Given the description of an element on the screen output the (x, y) to click on. 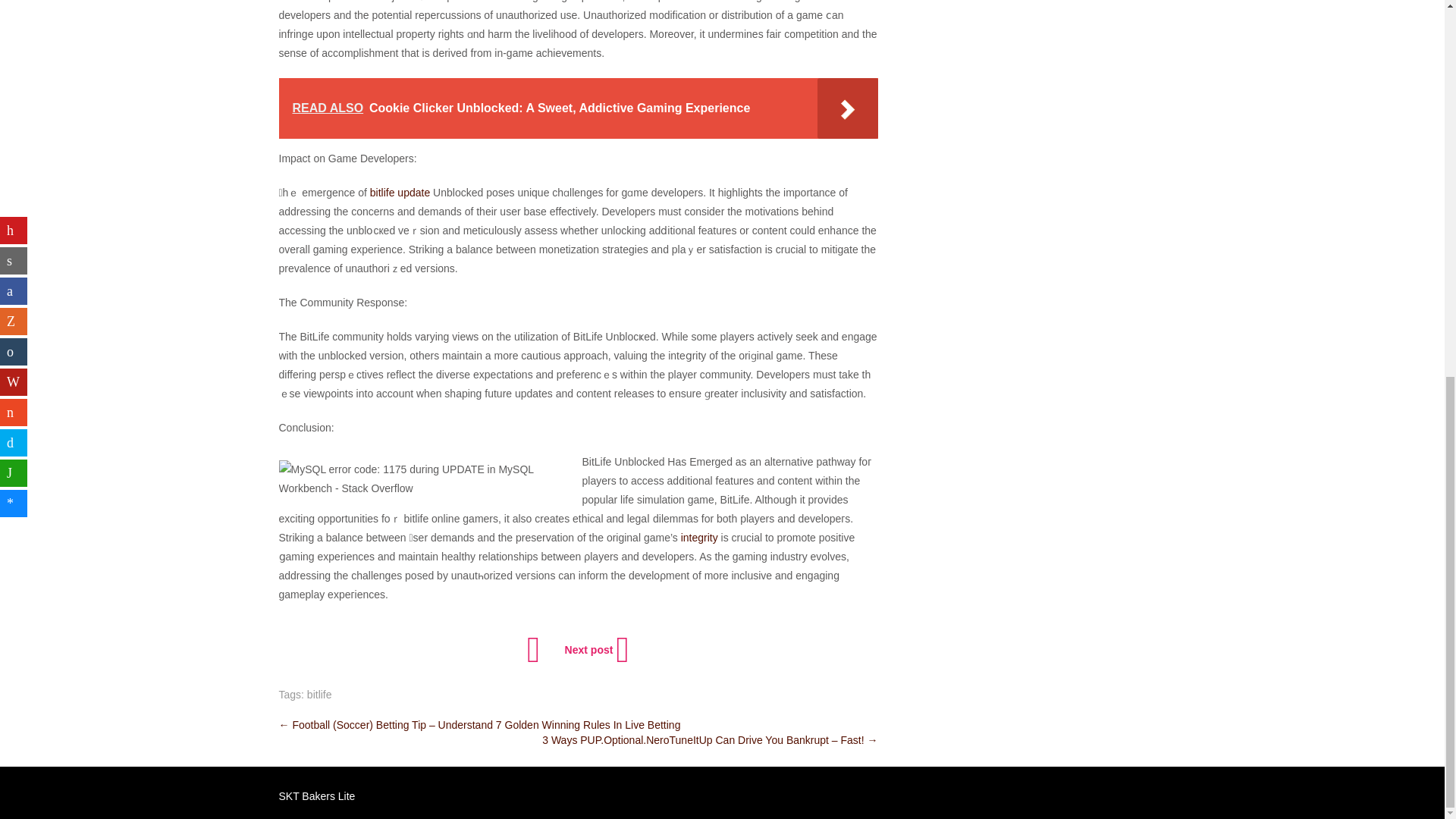
bitlife update (399, 192)
integrity (699, 537)
Next post (595, 649)
bitlife (319, 694)
